Given the description of an element on the screen output the (x, y) to click on. 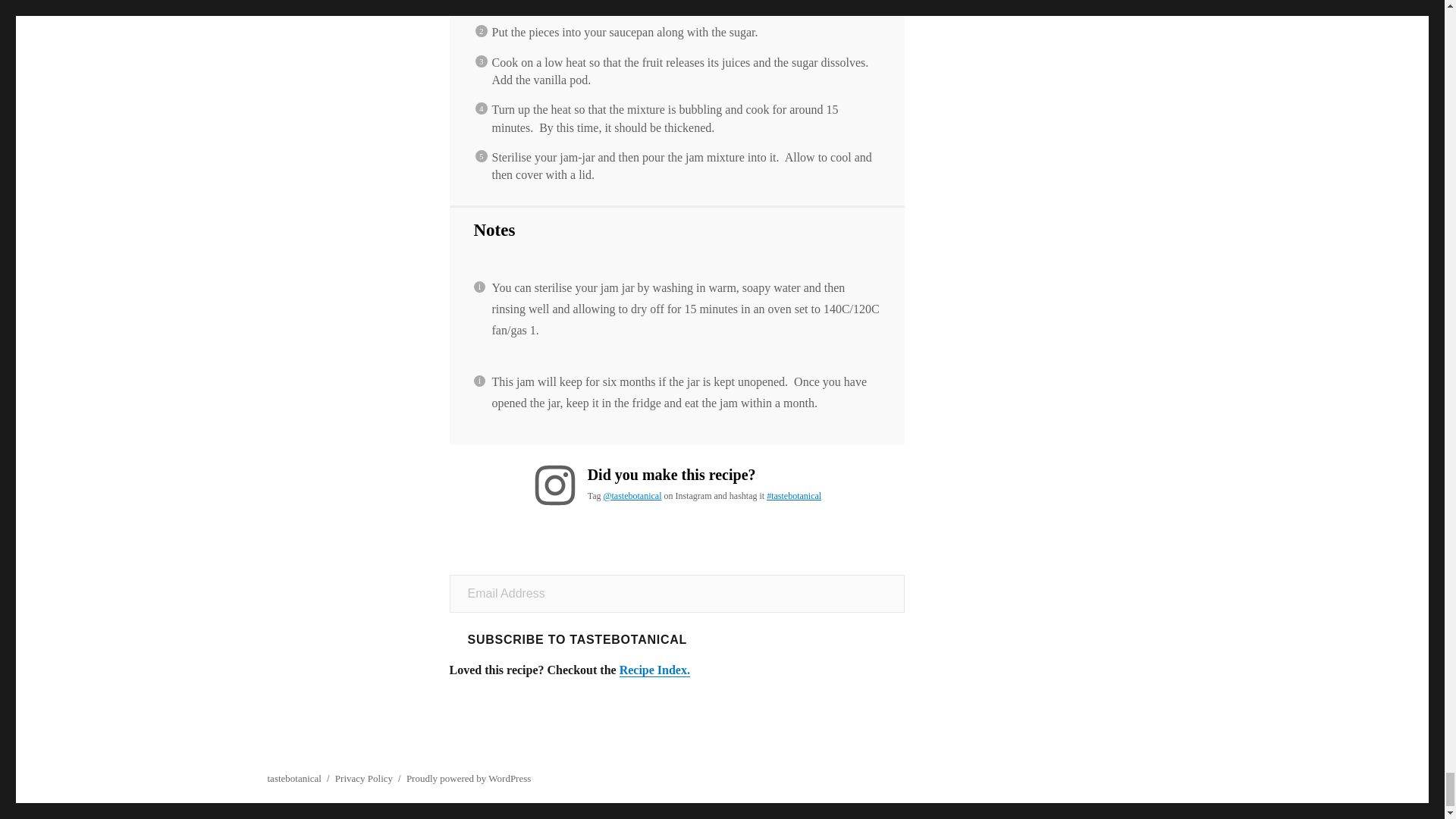
Please fill in this field. (676, 593)
